Given the description of an element on the screen output the (x, y) to click on. 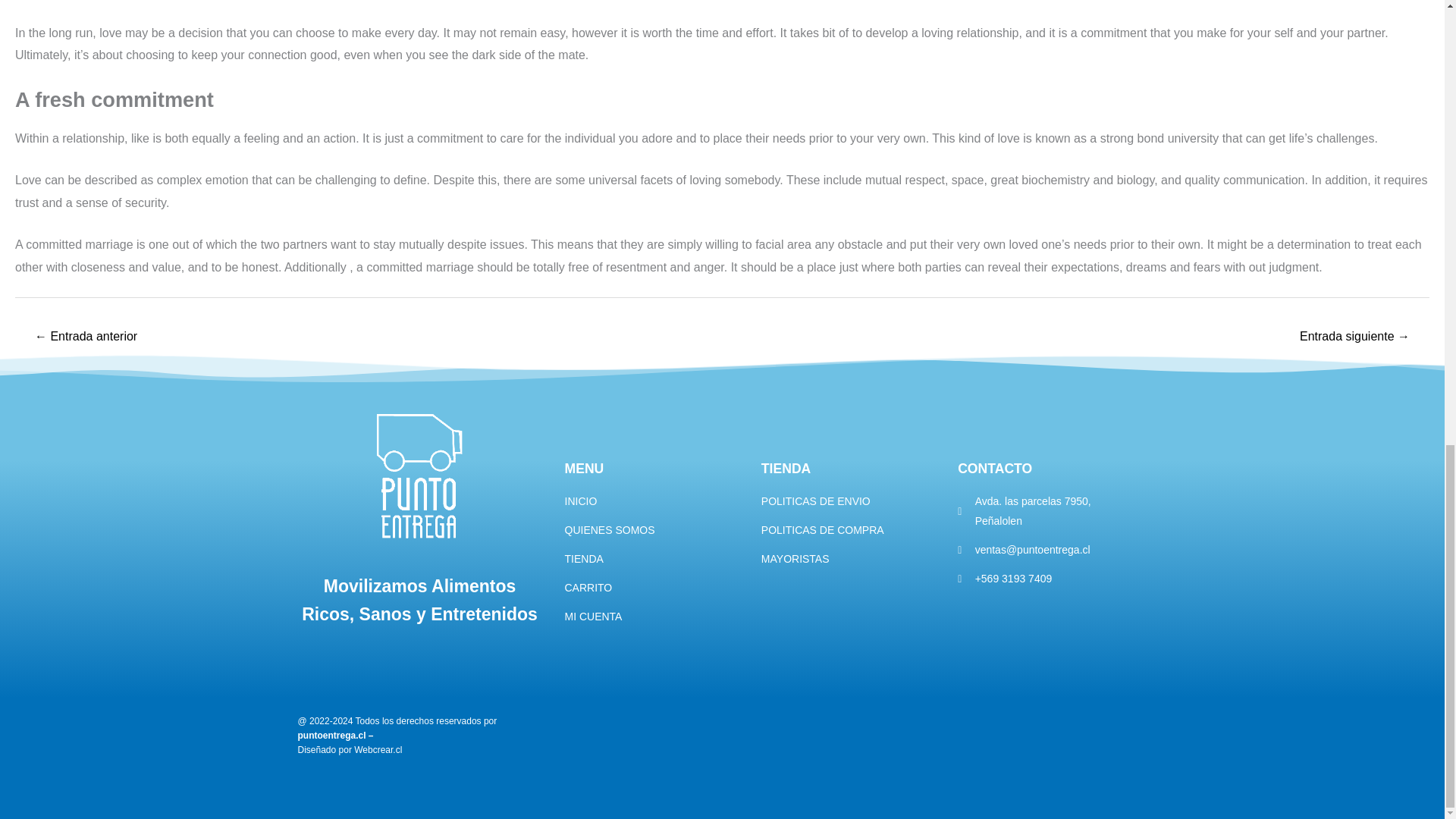
POLITICAS DE COMPRA (851, 530)
Webcrear.cl (377, 749)
Kingcasino Bonuses sakura fortune rtp (1354, 337)
TIENDA (654, 559)
MAYORISTAS (851, 559)
As to why Be in a Relationship? (85, 337)
INICIO (654, 501)
MI CUENTA (654, 617)
QUIENES SOMOS (654, 530)
POLITICAS DE ENVIO (851, 501)
CARRITO (654, 588)
